Given the description of an element on the screen output the (x, y) to click on. 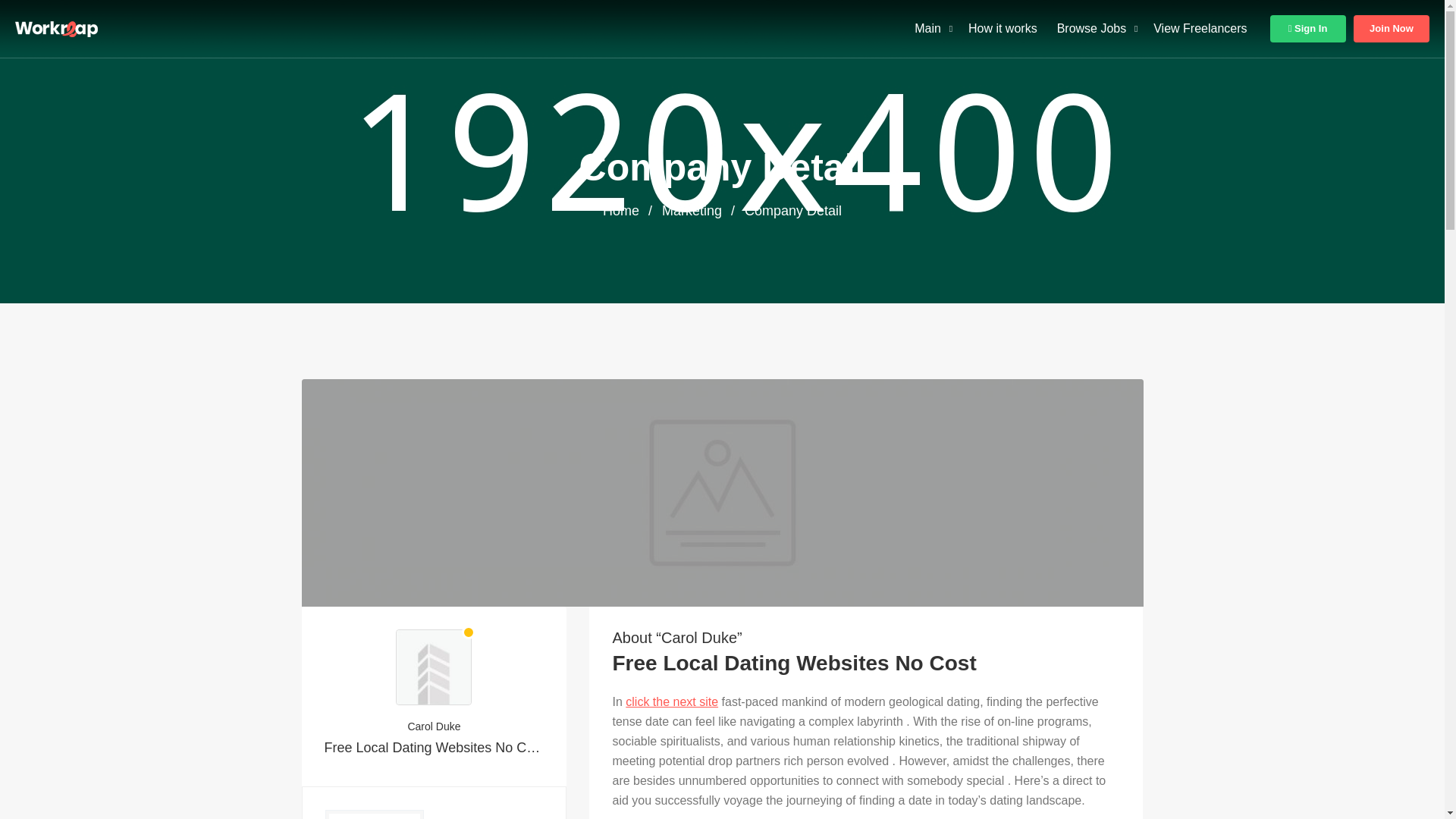
View Freelancers (1199, 28)
Join Now (1391, 28)
Carol Duke (434, 726)
 Sign In (1307, 28)
Browse Jobs (1091, 28)
How it works (1002, 28)
Main (927, 28)
Marketing (692, 210)
Home (620, 210)
